Given the description of an element on the screen output the (x, y) to click on. 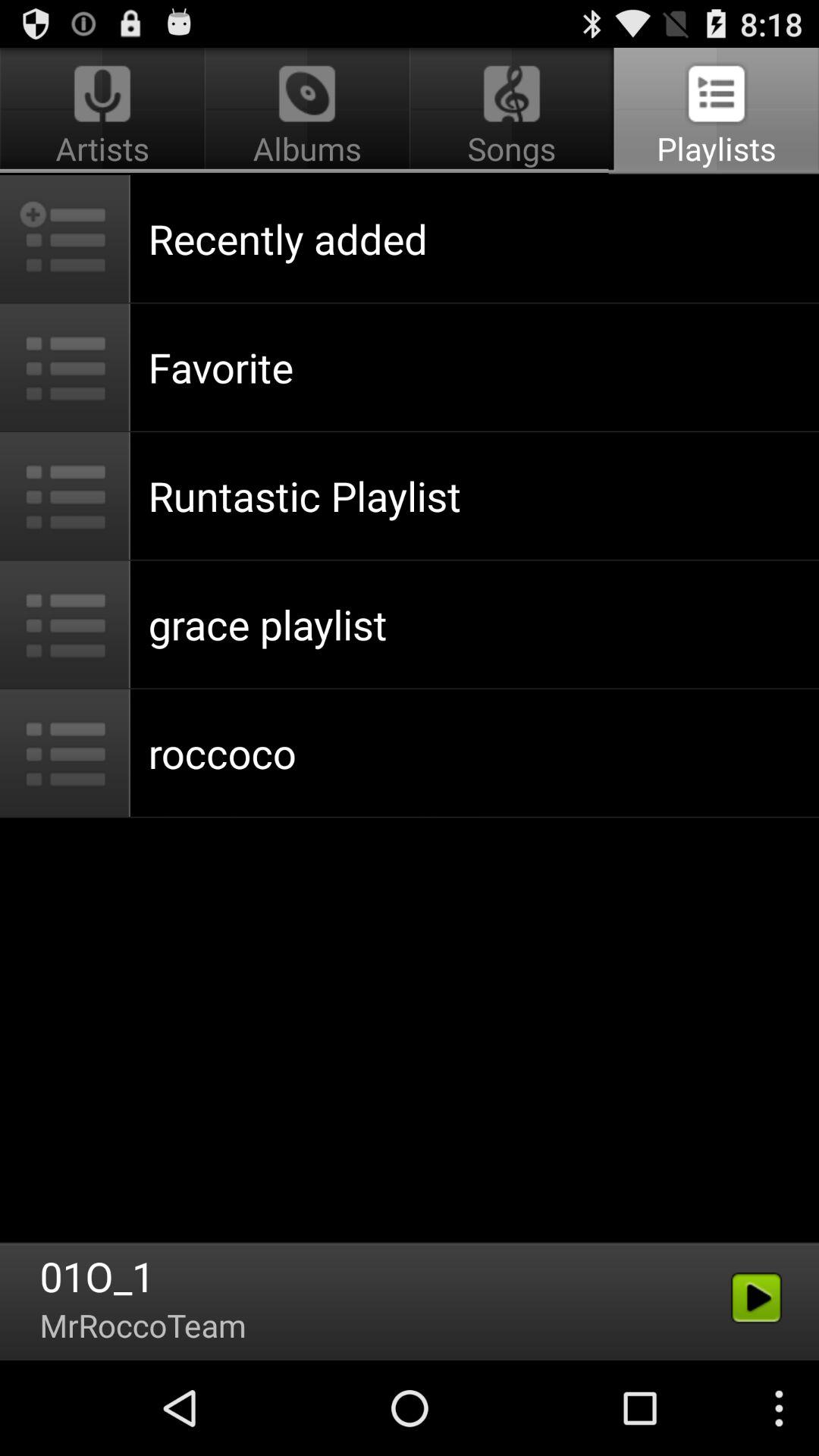
click on playlists (714, 111)
click on play icon at the bottom right corner (756, 1298)
click on the button between albums and playlists (511, 111)
